Given the description of an element on the screen output the (x, y) to click on. 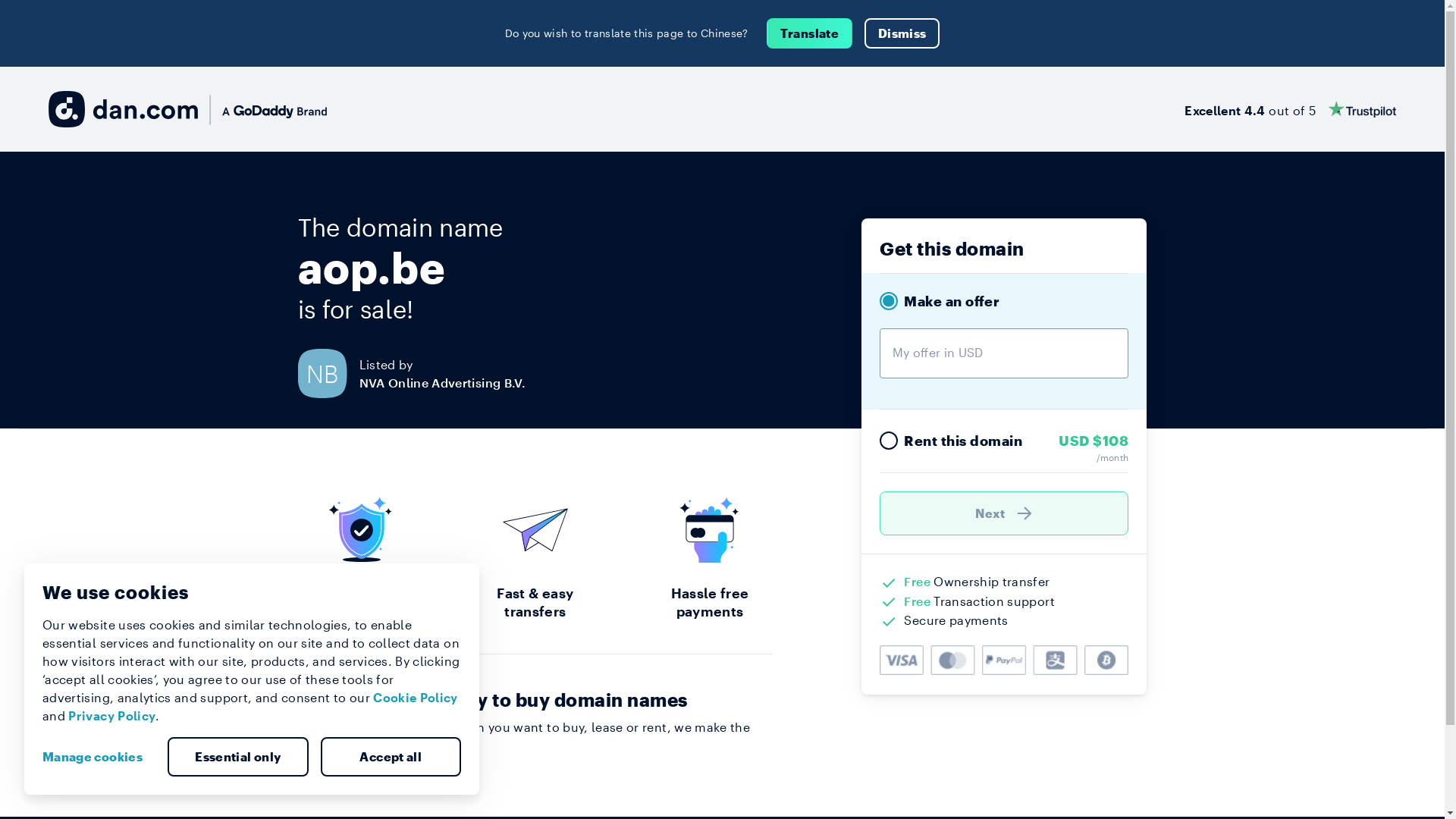
Translate Element type: text (809, 33)
Accept all Element type: text (390, 756)
Next
) Element type: text (1003, 513)
Privacy Policy Element type: text (111, 715)
Excellent 4.4 out of 5 Element type: text (1290, 109)
Manage cookies Element type: text (98, 756)
Dismiss Element type: text (901, 33)
Cookie Policy Element type: text (415, 697)
Essential only Element type: text (237, 756)
